Given the description of an element on the screen output the (x, y) to click on. 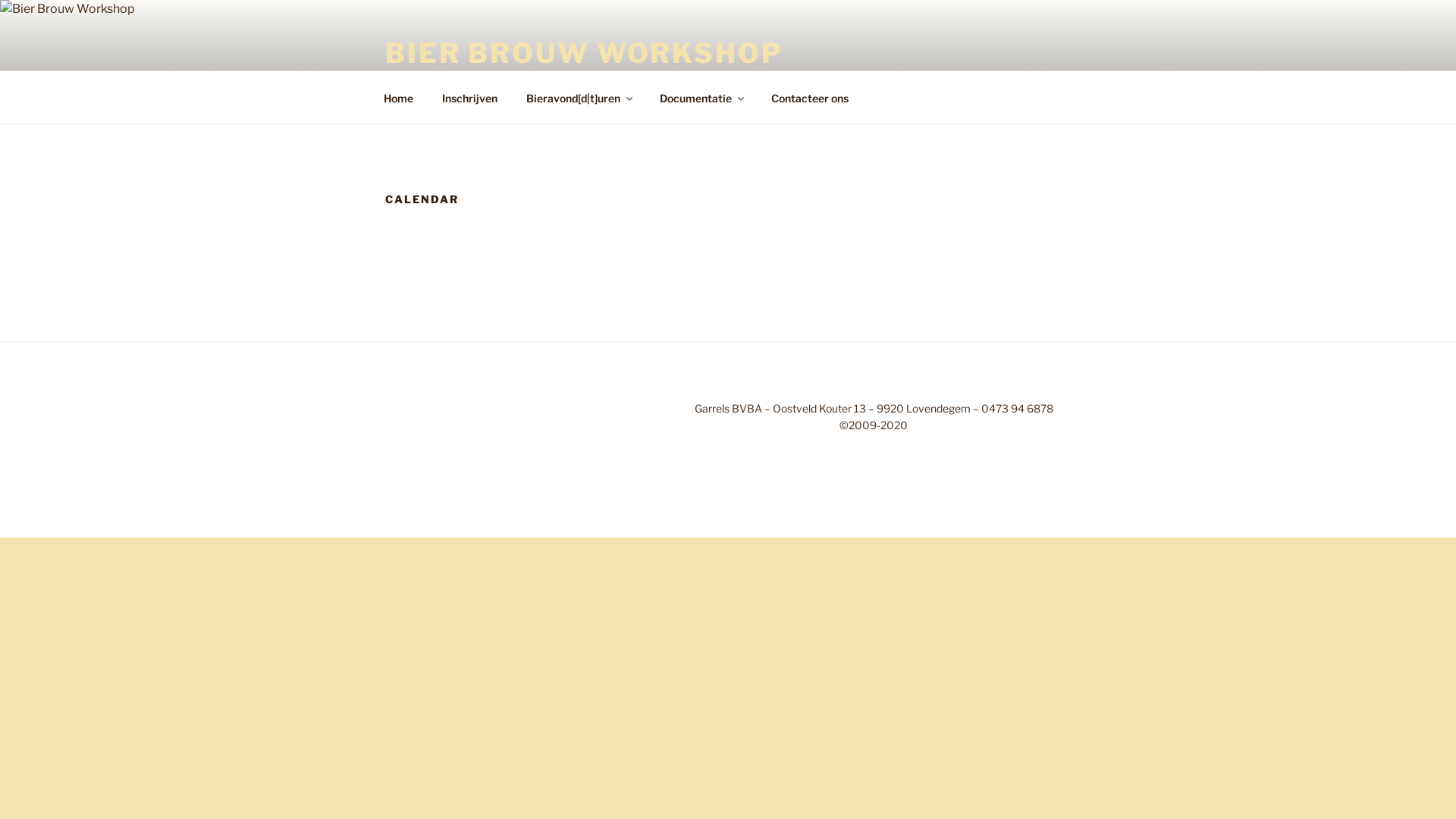
Home Element type: text (398, 97)
BIER BROUW WORKSHOP Element type: text (584, 52)
Inschrijven Element type: text (469, 97)
Bieravond[d|t]uren Element type: text (577, 97)
Contacteer ons Element type: text (809, 97)
Documentatie Element type: text (700, 97)
